Given the description of an element on the screen output the (x, y) to click on. 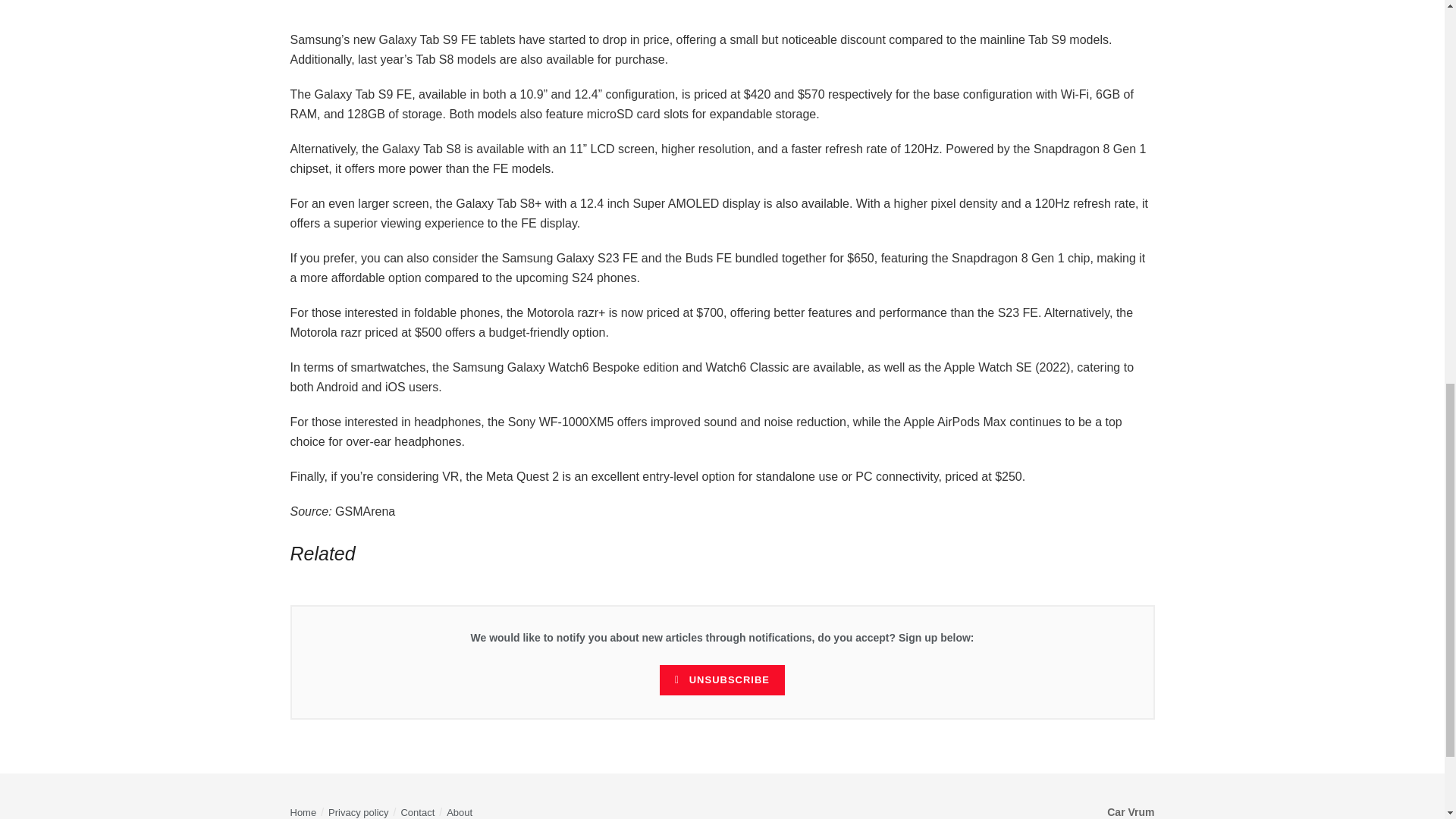
About (458, 812)
Contact (416, 812)
UNSUBSCRIBE (721, 680)
Home (302, 812)
Privacy policy (358, 812)
